Given the description of an element on the screen output the (x, y) to click on. 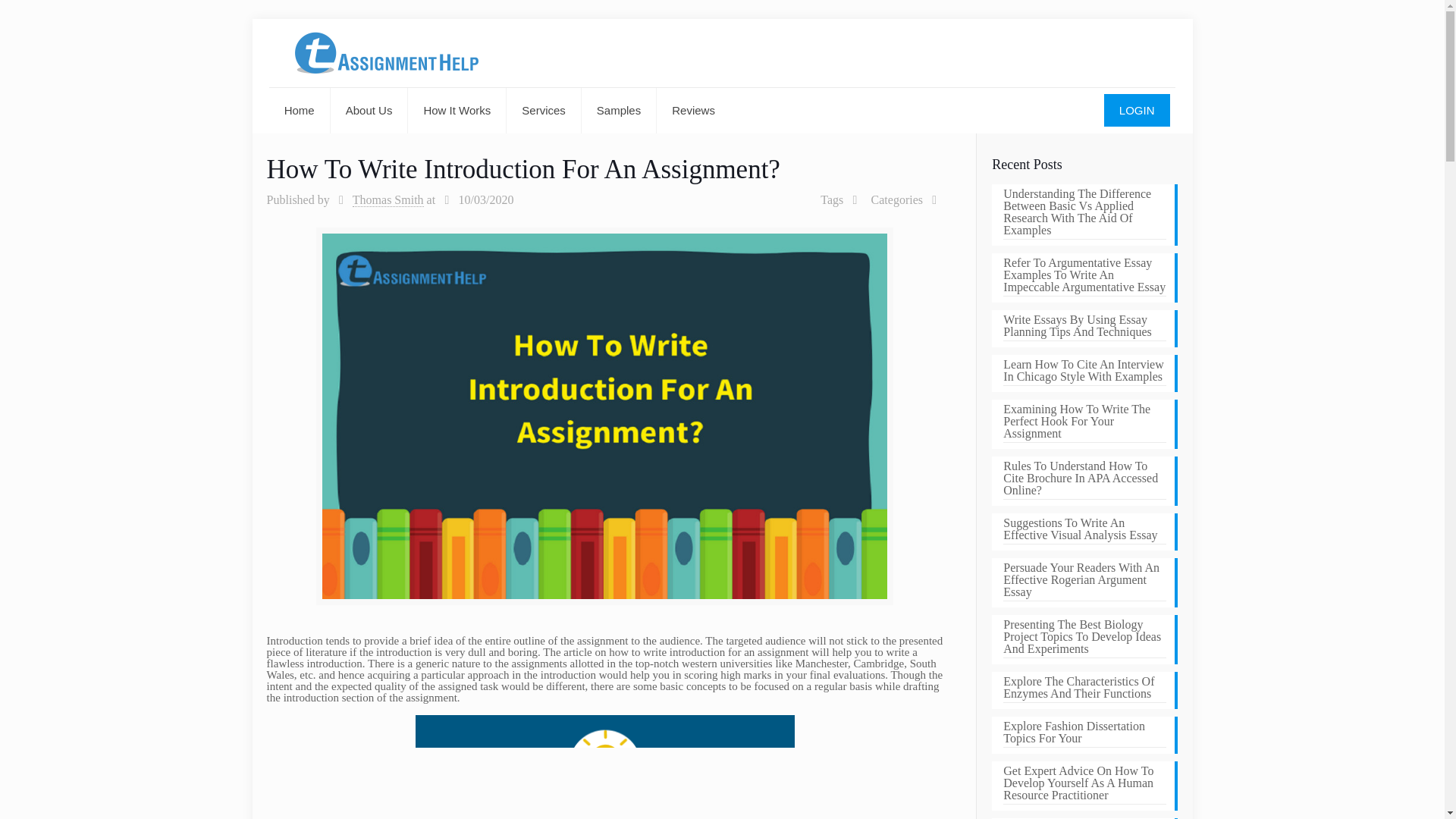
Thomas Smith (387, 200)
Samples (618, 110)
LOGIN (1136, 110)
How It Works (456, 110)
Reviews (693, 110)
Services (543, 110)
About Us (369, 110)
Home (299, 110)
